Given the description of an element on the screen output the (x, y) to click on. 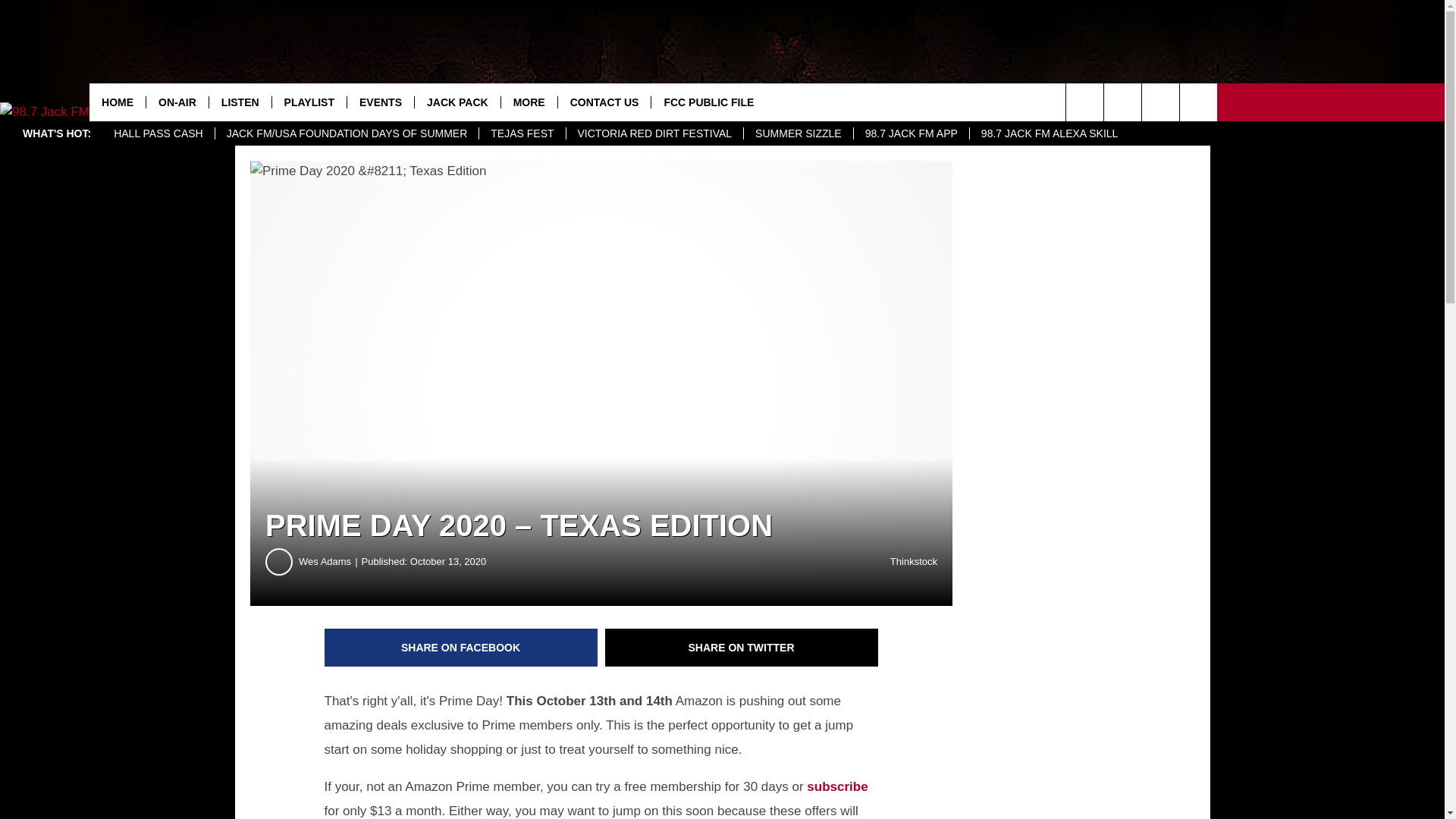
PLAYLIST (308, 102)
WHAT'S HOT: (56, 133)
HALL PASS CASH (157, 133)
MORE (528, 102)
JACK PACK (456, 102)
ON-AIR (176, 102)
SUMMER SIZZLE (797, 133)
Share on Twitter (741, 647)
Share on Facebook (460, 647)
FCC PUBLIC FILE (707, 102)
